Given the description of an element on the screen output the (x, y) to click on. 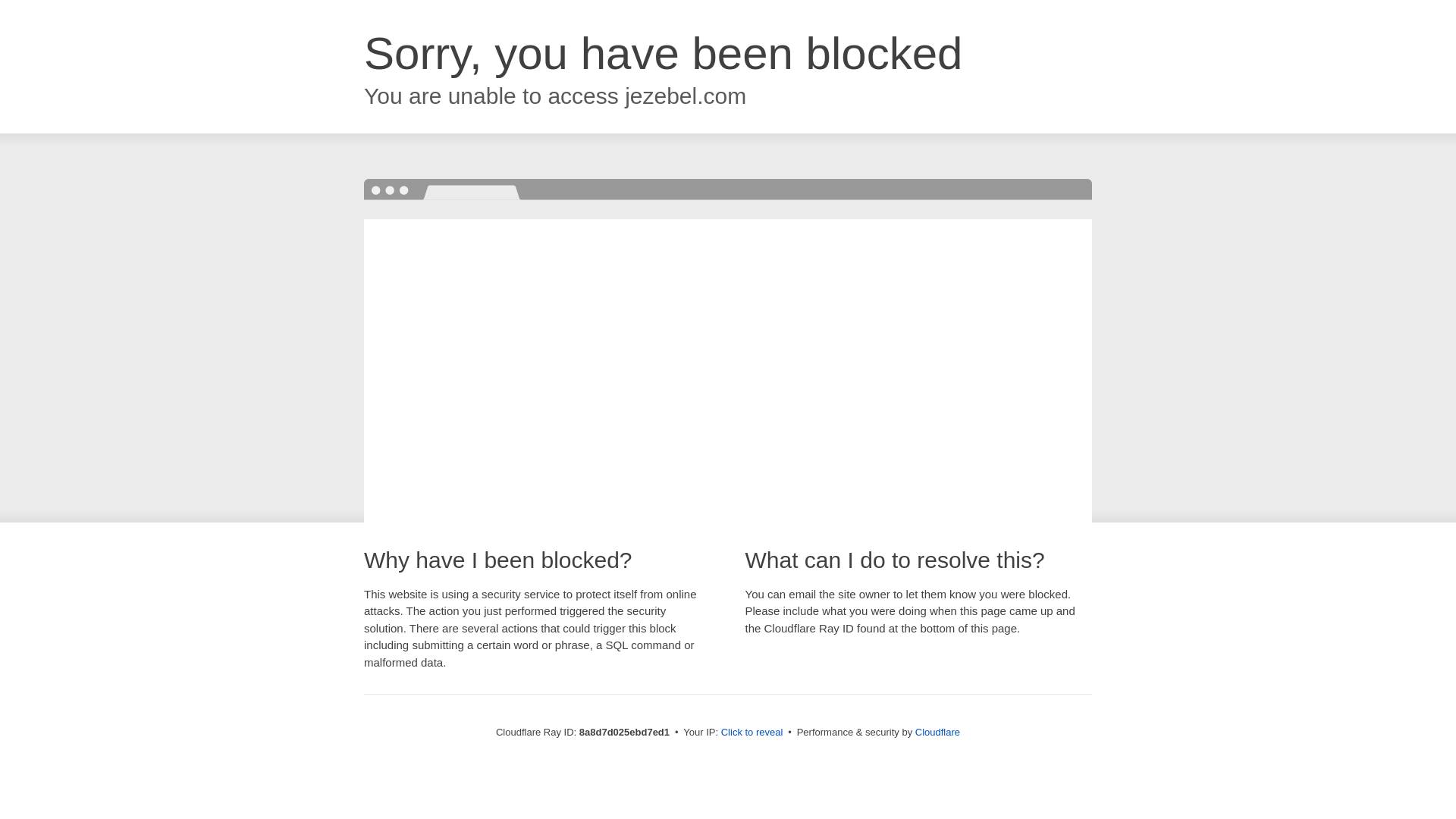
Cloudflare (937, 731)
Click to reveal (751, 732)
